Given the description of an element on the screen output the (x, y) to click on. 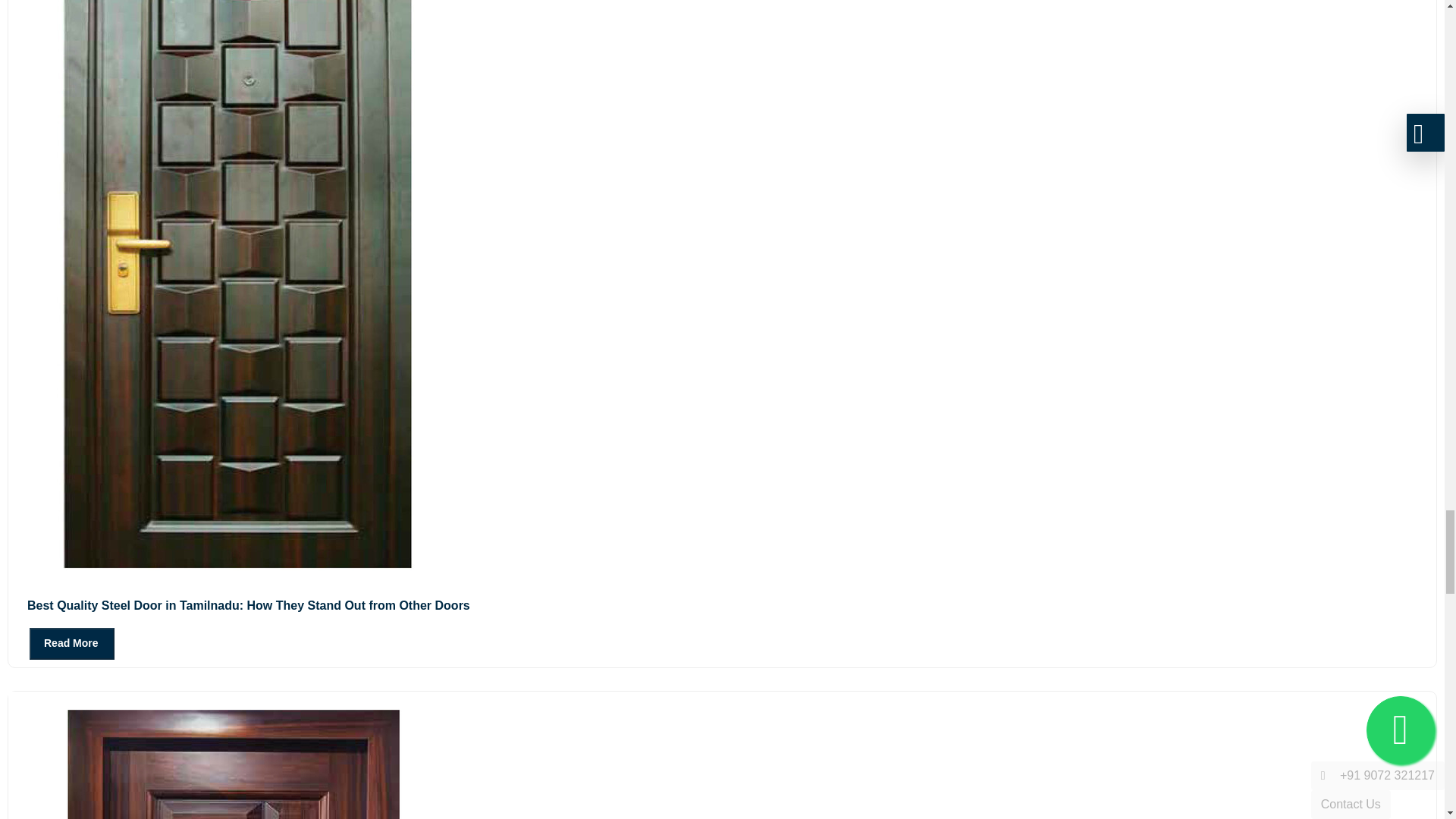
Read More (72, 644)
Read More (61, 642)
